Given the description of an element on the screen output the (x, y) to click on. 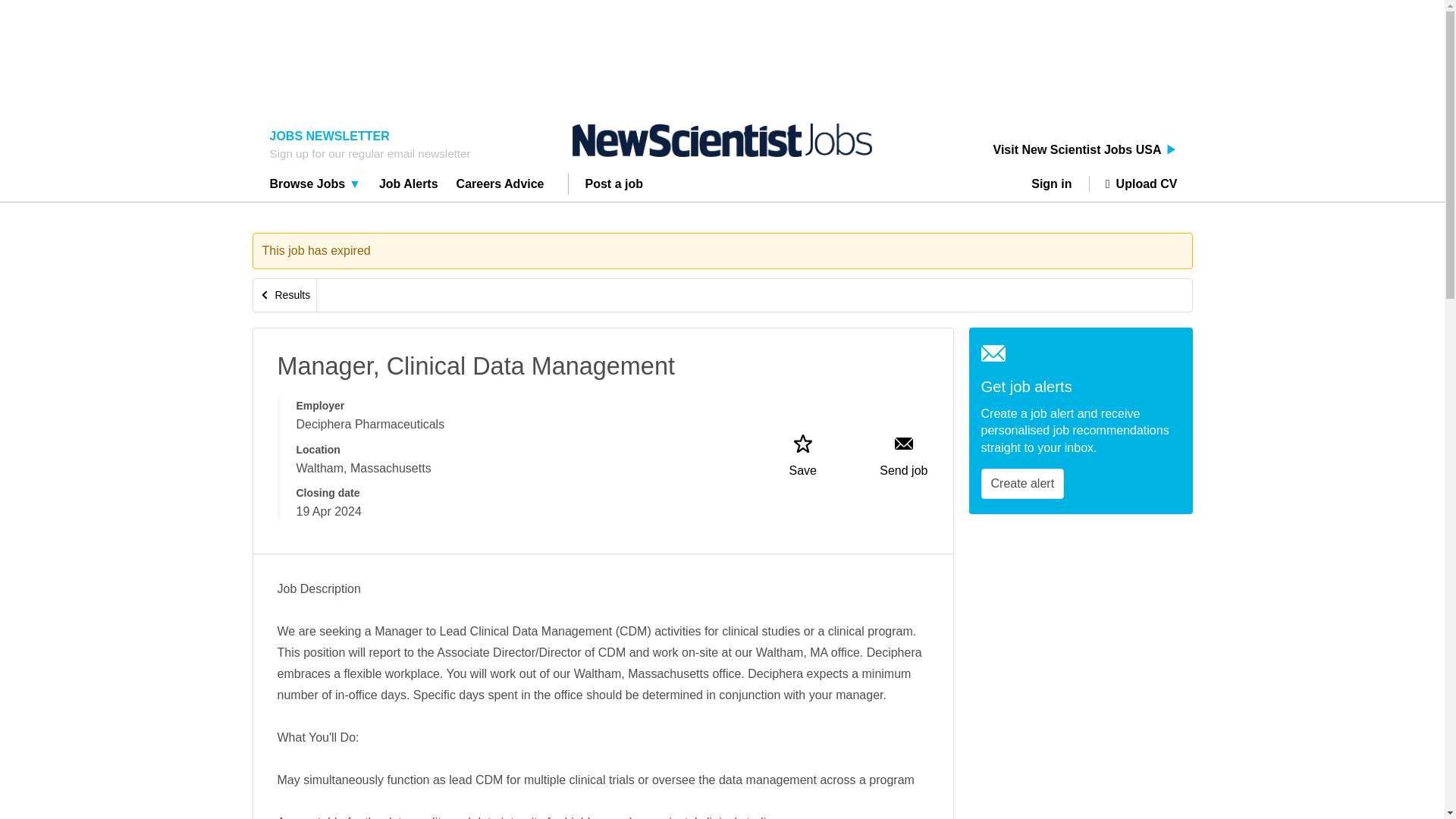
New Scientist Jobs (722, 140)
Post a job (614, 186)
Sign in (1057, 183)
Upload CV (1133, 183)
Results (285, 295)
Visit New Scientist Jobs USA (1084, 149)
Careers Advice (500, 186)
Job Alerts (409, 186)
